Given the description of an element on the screen output the (x, y) to click on. 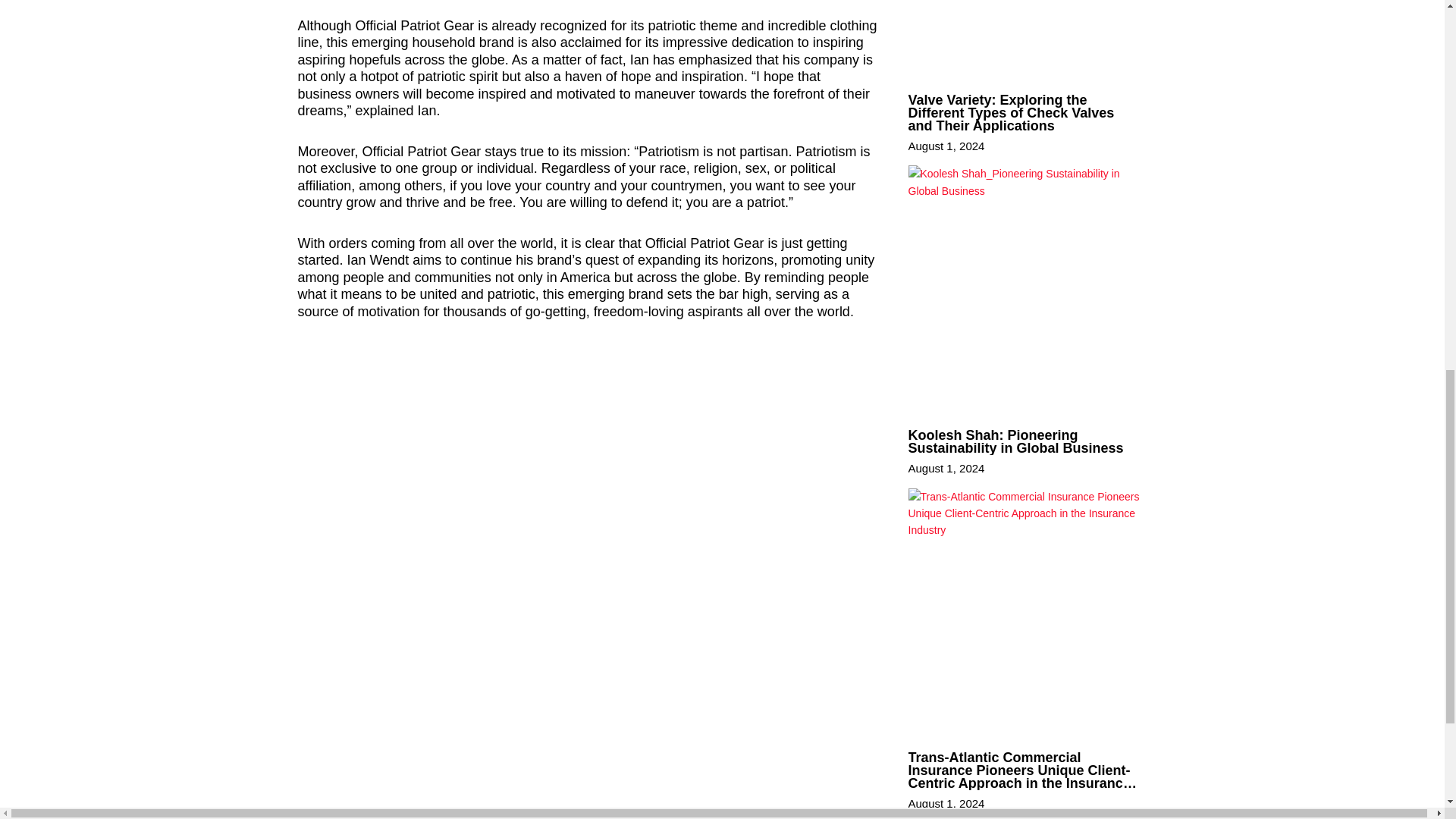
Koolesh Shah: Pioneering Sustainability in Global Business (1016, 441)
